Given the description of an element on the screen output the (x, y) to click on. 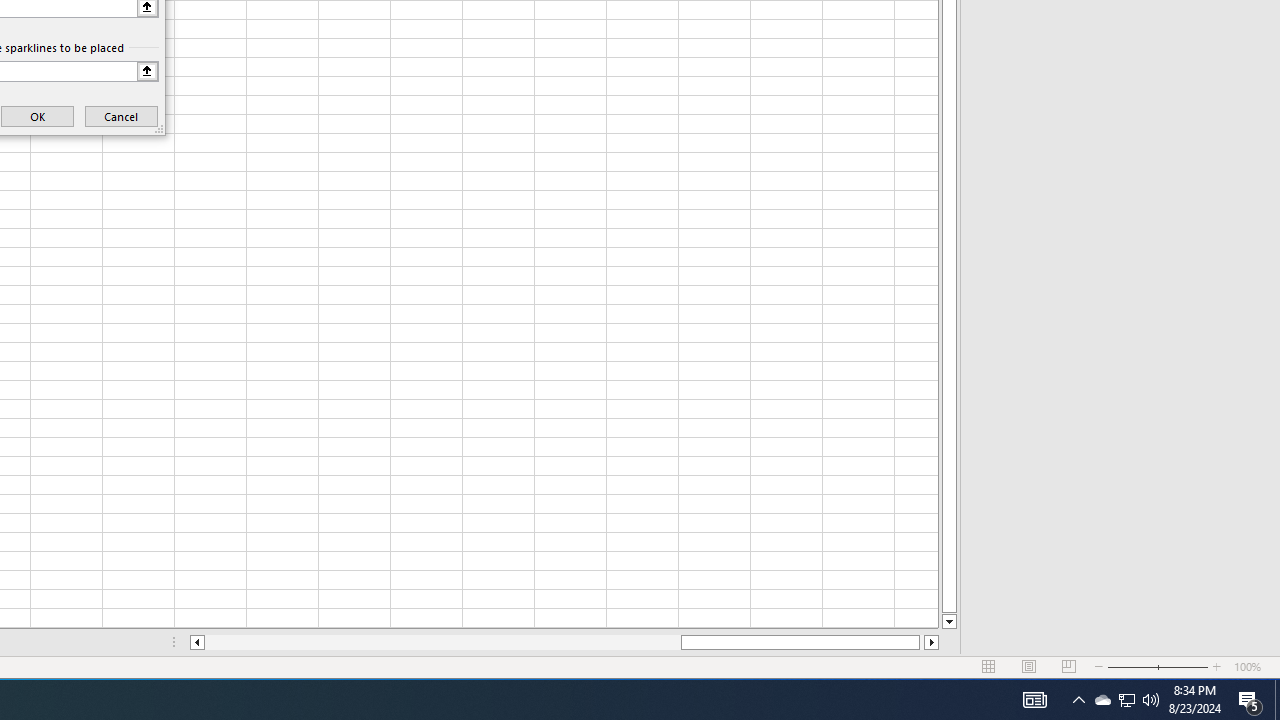
Page left (442, 642)
